Given the description of an element on the screen output the (x, y) to click on. 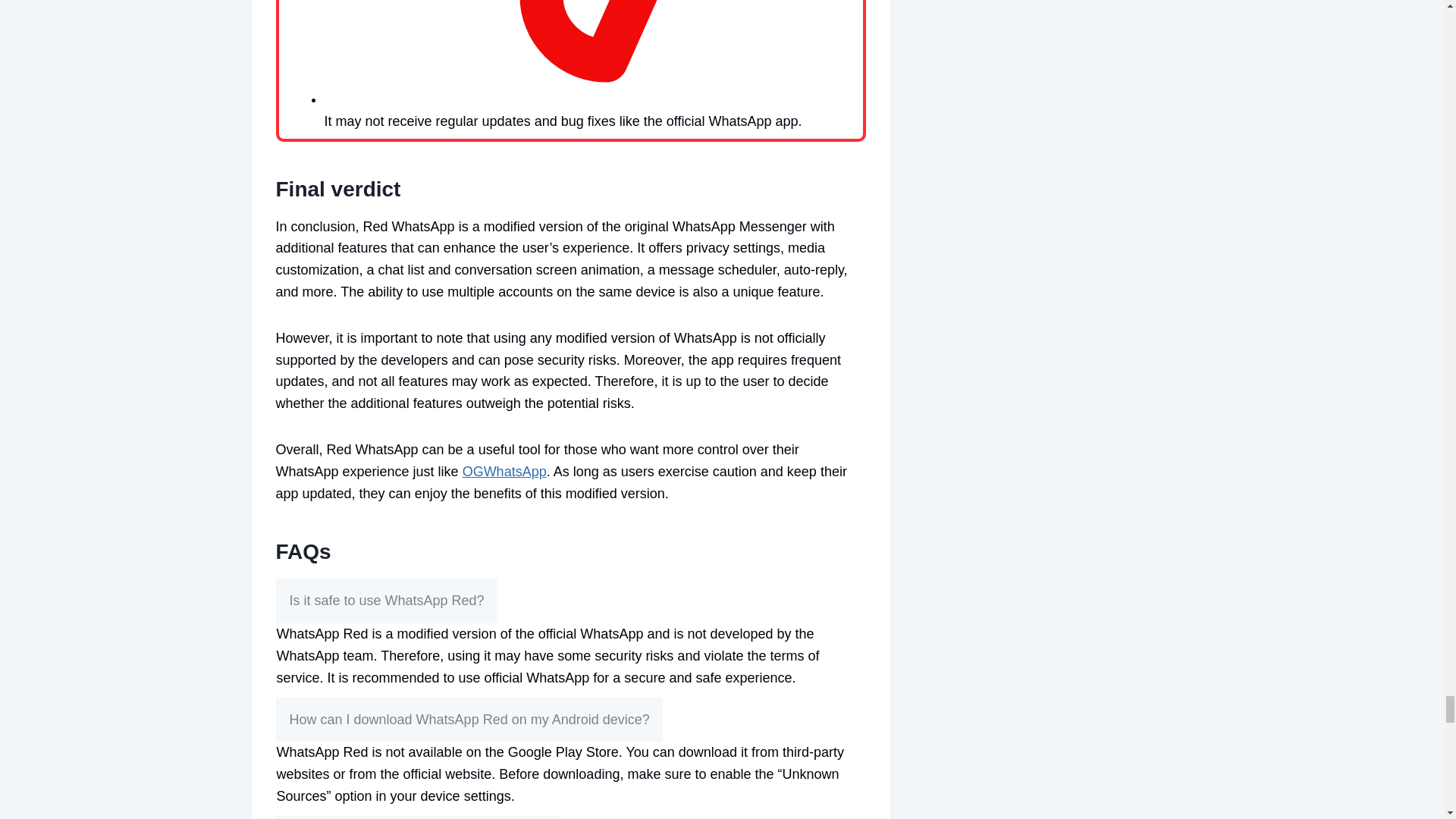
Can I use WhatsApp Red on iOS devices? (417, 817)
Is it safe to use WhatsApp Red? (386, 600)
OGWhatsApp (505, 471)
How can I download WhatsApp Red on my Android device? (469, 719)
